Given the description of an element on the screen output the (x, y) to click on. 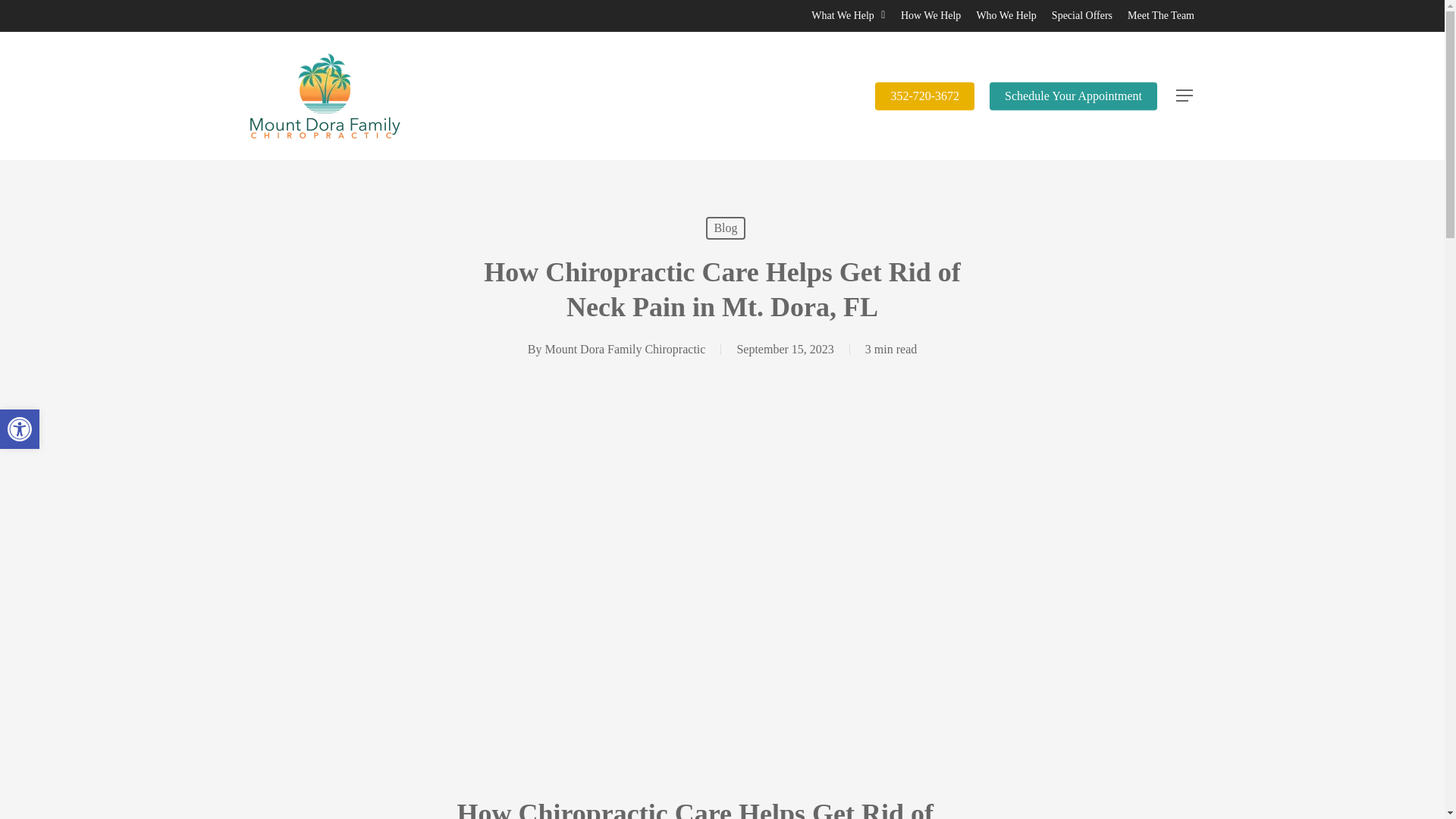
Blog (725, 228)
Accessibility Tools (19, 428)
Schedule Your Appointment (1073, 96)
What We Help (847, 15)
Accessibility Tools (19, 428)
Posts by Mount Dora Family Chiropractic (624, 349)
Menu (1184, 95)
Meet The Team (1159, 15)
352-720-3672 (924, 96)
Who We Help (1005, 15)
How We Help (930, 15)
Mount Dora Family Chiropractic (624, 349)
Special Offers (1081, 15)
